Given the description of an element on the screen output the (x, y) to click on. 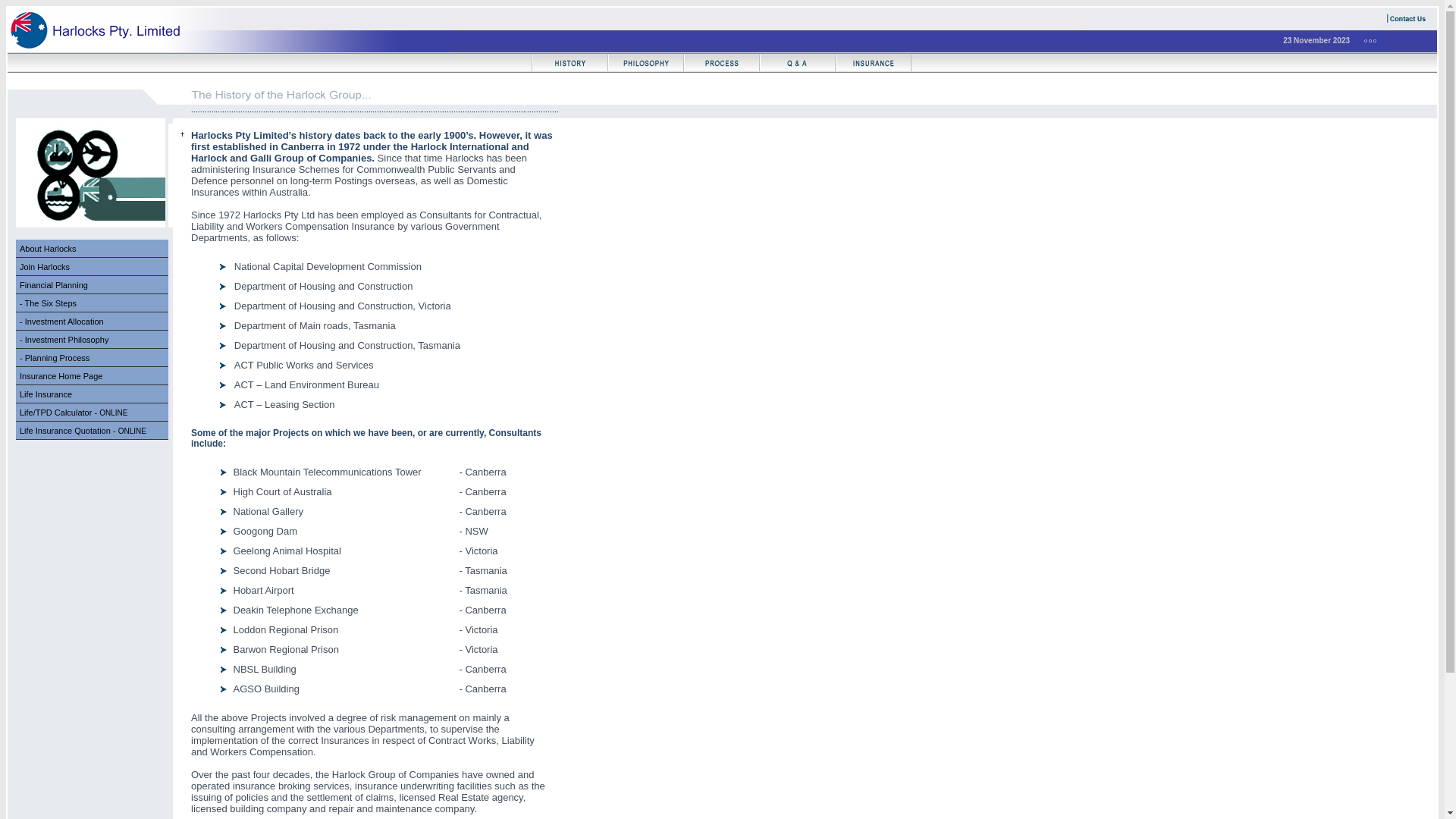
Life/TPD Calculator - ONLINE Element type: text (73, 412)
Insurance Home Page Element type: text (91, 375)
Join Harlocks Element type: text (91, 266)
- Investment Philosophy Element type: text (91, 339)
About Harlocks Element type: text (47, 248)
Life Insurance Element type: text (45, 393)
Financial Planning Element type: text (53, 284)
- The Six Steps Element type: text (91, 302)
- Planning Process Element type: text (54, 357)
- Planning Process Element type: text (91, 357)
Life Insurance Quotation - ONLINE Element type: text (91, 430)
Life/TPD Calculator - ONLINE Element type: text (91, 411)
Financial Planning Element type: text (91, 284)
Life Insurance Element type: text (91, 393)
- Investment Philosophy Element type: text (63, 339)
Join Harlocks Element type: text (44, 266)
- Investment Allocation Element type: text (61, 321)
- Investment Allocation Element type: text (91, 320)
Insurance Home Page Element type: text (60, 375)
Life Insurance Quotation - ONLINE Element type: text (82, 430)
About Harlocks Element type: text (91, 248)
- The Six Steps Element type: text (47, 302)
